Given the description of an element on the screen output the (x, y) to click on. 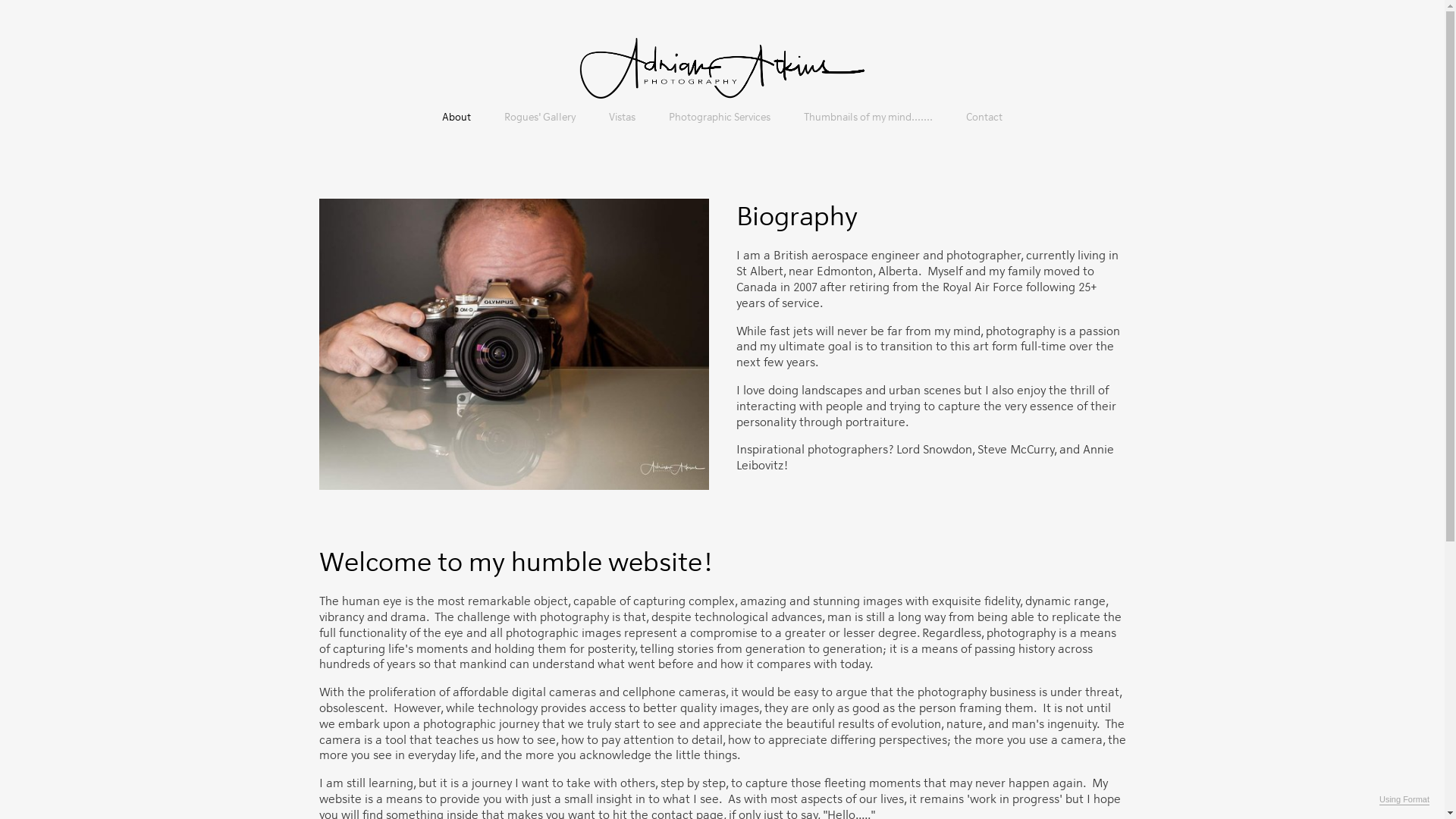
Using Format Element type: text (1404, 799)
Contact Element type: text (984, 116)
Vistas Element type: text (621, 116)
Photographic Services Element type: text (719, 116)
About Element type: text (456, 117)
Rogues' Gallery Element type: text (539, 116)
Thumbnails of my mind....... Element type: text (867, 116)
